Given the description of an element on the screen output the (x, y) to click on. 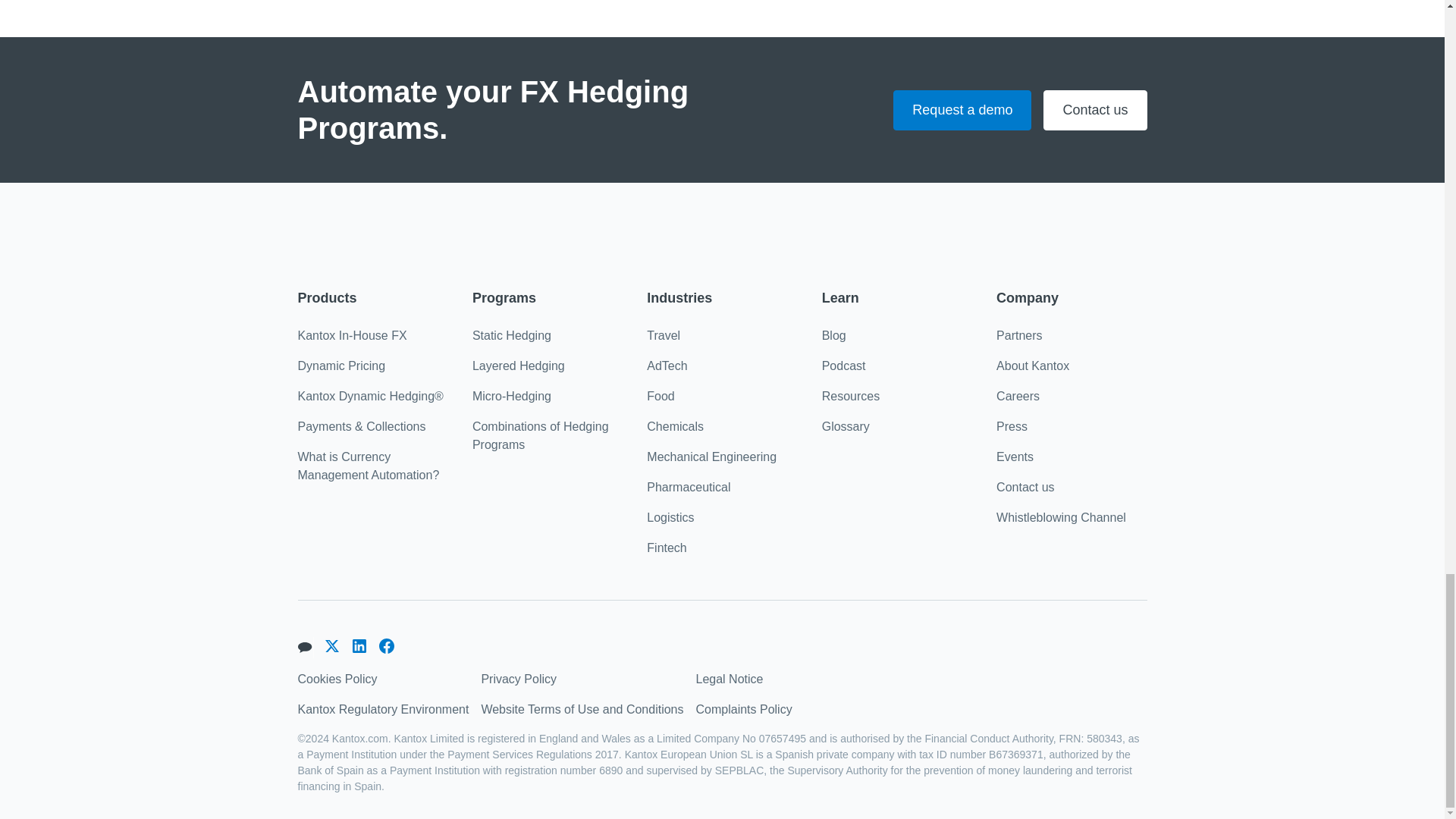
Contact us (1095, 110)
Kantox In-House FX (351, 336)
Request a demo (961, 110)
